Given the description of an element on the screen output the (x, y) to click on. 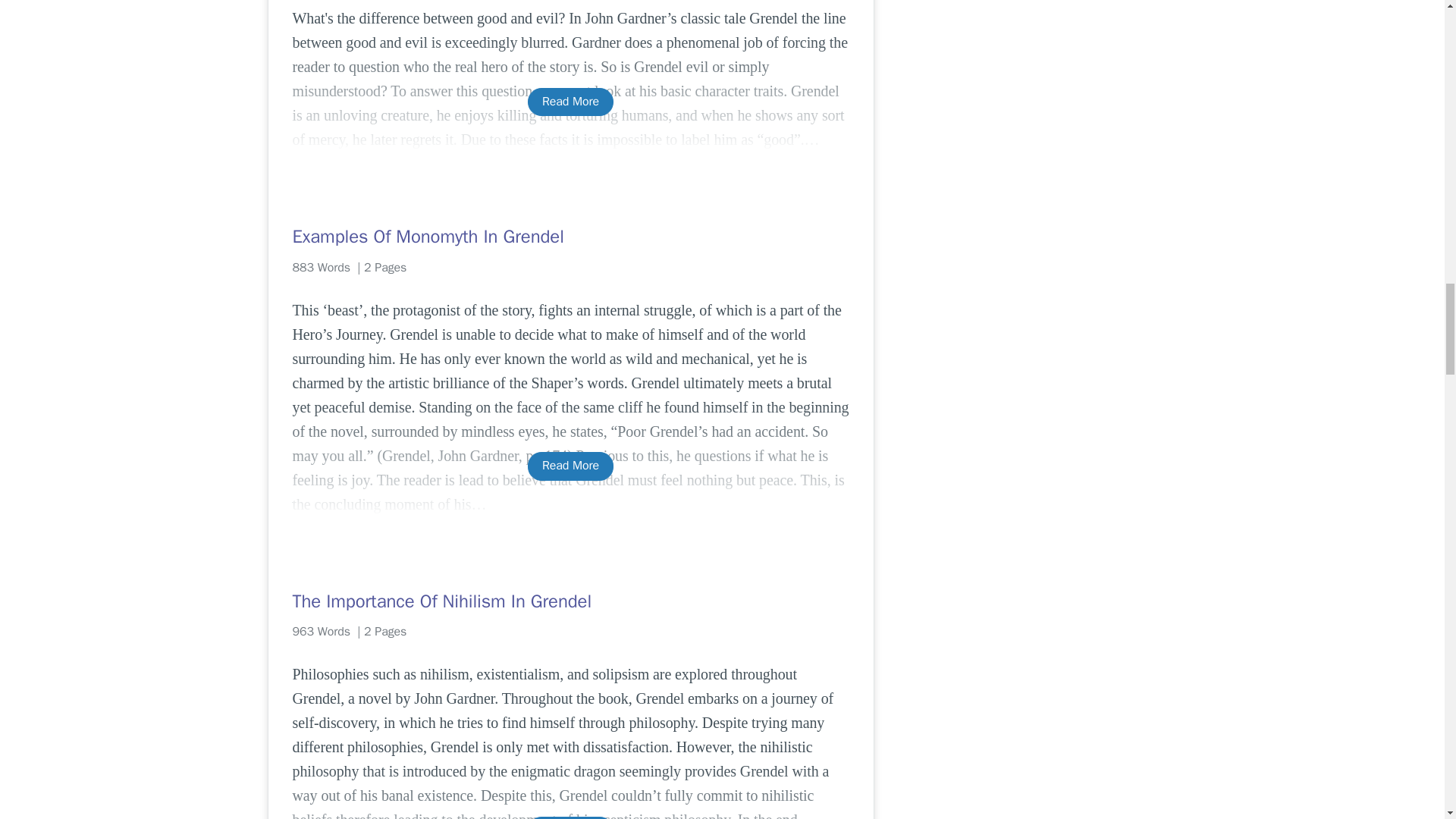
The Importance Of Nihilism In Grendel (570, 600)
Read More (569, 817)
Examples Of Monomyth In Grendel (570, 236)
Read More (569, 465)
Read More (569, 101)
